Given the description of an element on the screen output the (x, y) to click on. 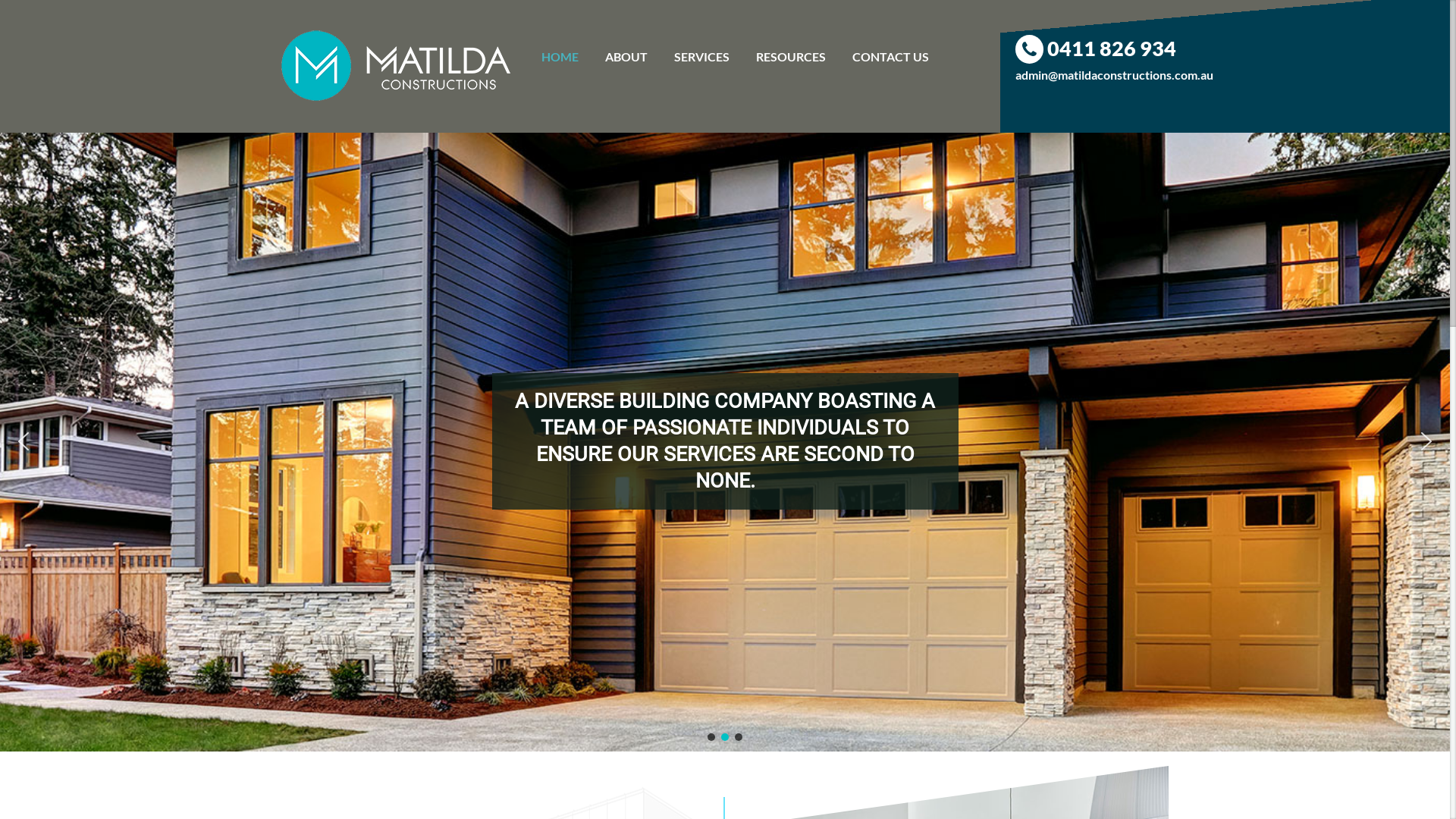
HOME Element type: text (559, 56)
admin@matildaconstructions.com.au Element type: text (1232, 74)
CONTACT US Element type: text (890, 56)
ABOUT Element type: text (626, 56)
SERVICES Element type: text (701, 56)
Matilda Constructions Element type: text (596, 77)
0411 826 934 Element type: text (1232, 48)
RESOURCES Element type: text (790, 56)
